Given the description of an element on the screen output the (x, y) to click on. 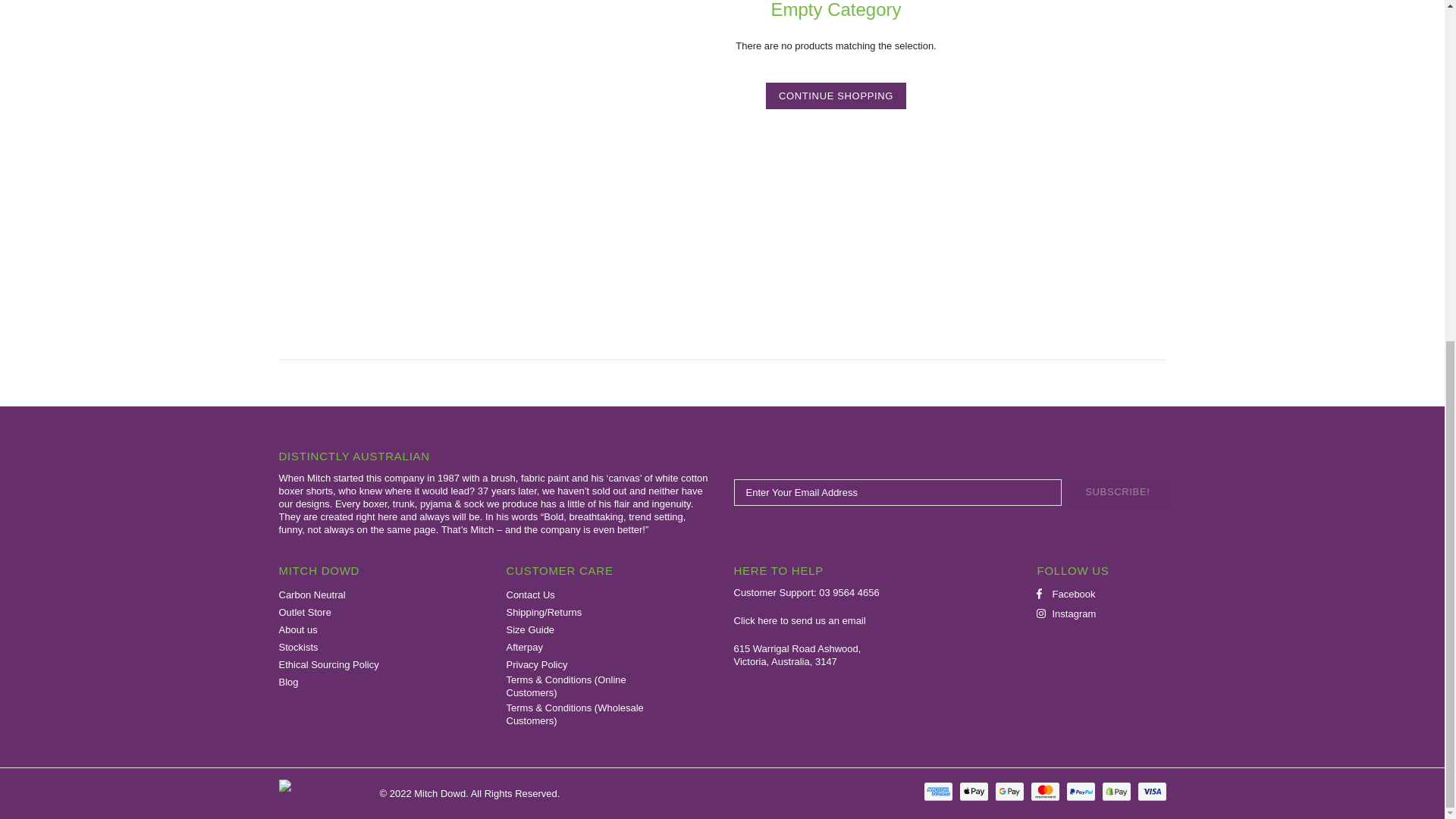
SUBSCRIBE! (1117, 492)
